Given the description of an element on the screen output the (x, y) to click on. 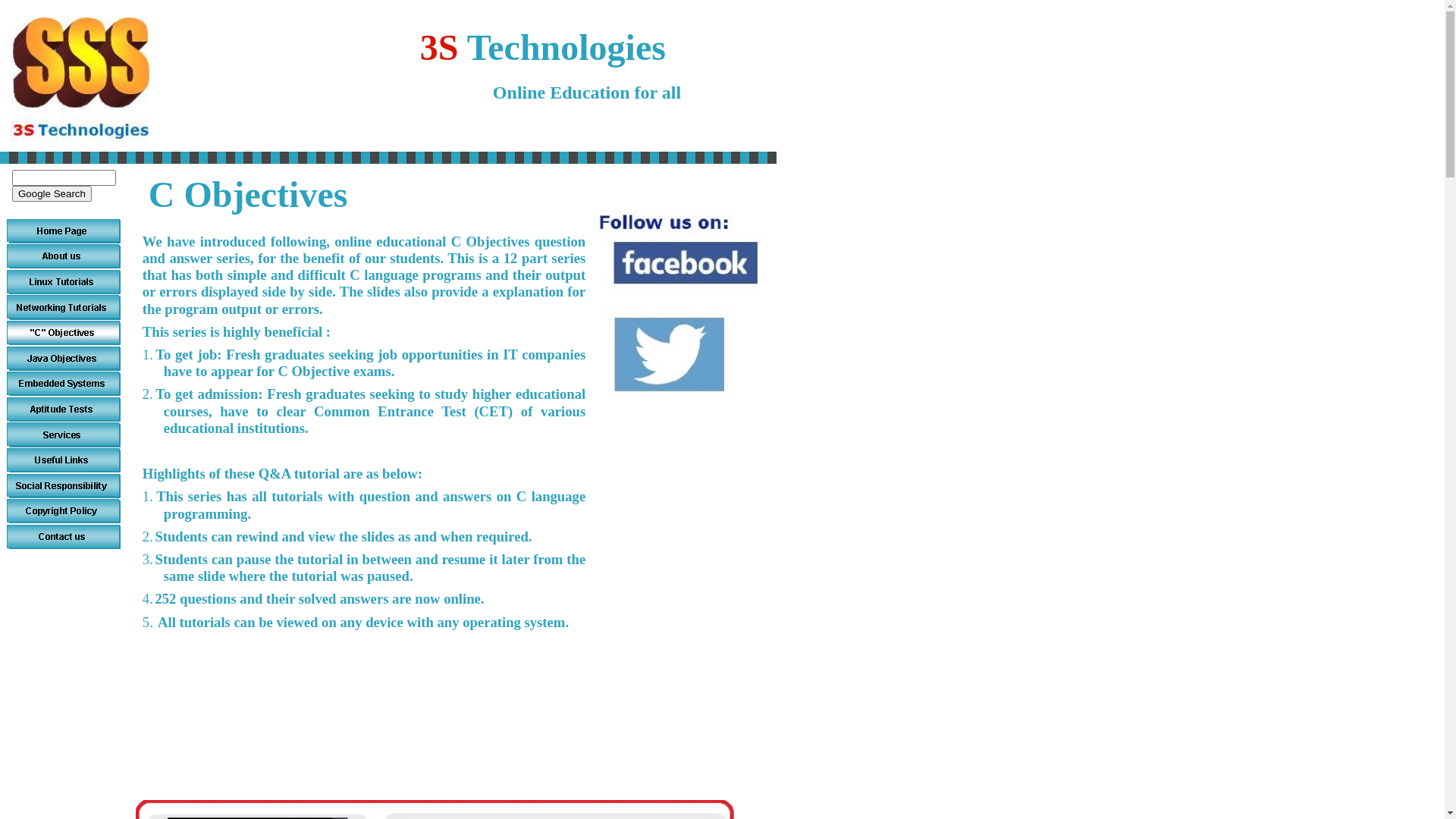
Google Search Element type: text (51, 193)
